Given the description of an element on the screen output the (x, y) to click on. 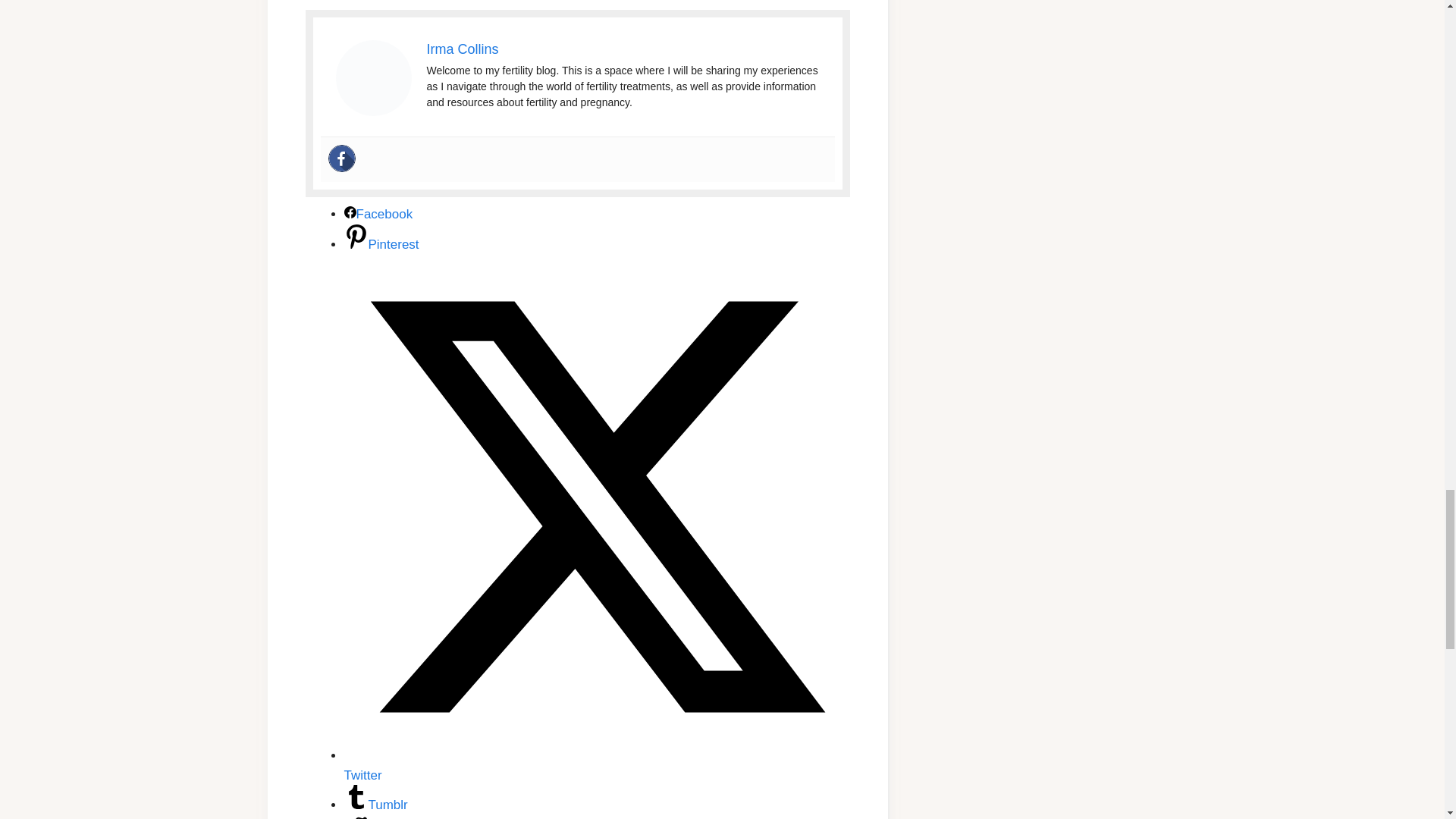
Irma Collins (461, 48)
Pinterest (381, 244)
Clear Mucus Discharge With Blood Streaks During Pregnancy (372, 78)
Share on Pinterest (381, 244)
Tumblr (375, 804)
Facebook (378, 214)
Share on Tumblr (375, 804)
Twitter (596, 765)
Share on Twitter (596, 765)
Facebook (341, 157)
